Given the description of an element on the screen output the (x, y) to click on. 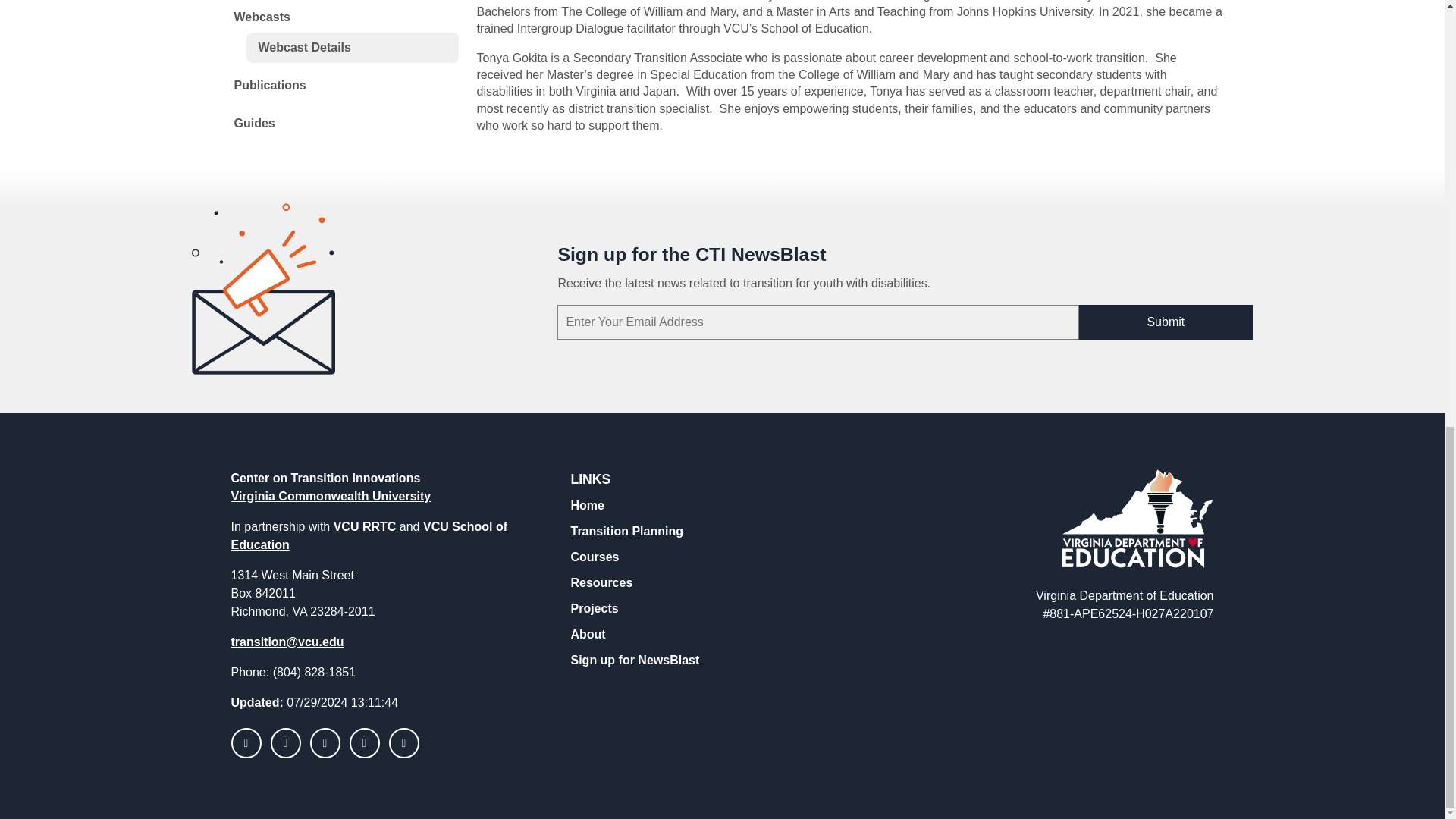
Submit (1165, 321)
